Given the description of an element on the screen output the (x, y) to click on. 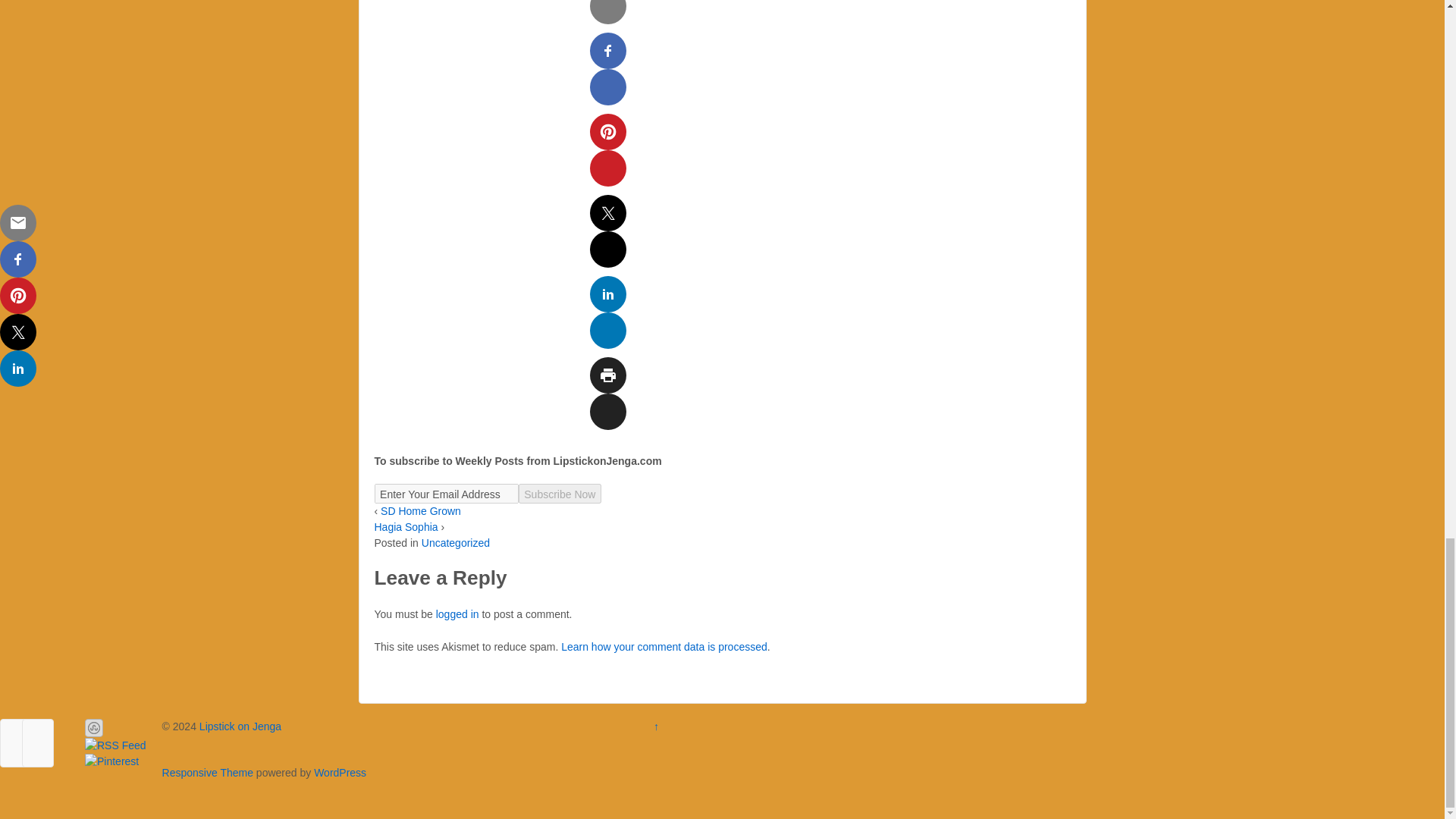
Subscribe Now (559, 493)
Lipstick on Jenga (238, 726)
Enter Your Email Address (446, 493)
Responsive Theme (207, 772)
